Given the description of an element on the screen output the (x, y) to click on. 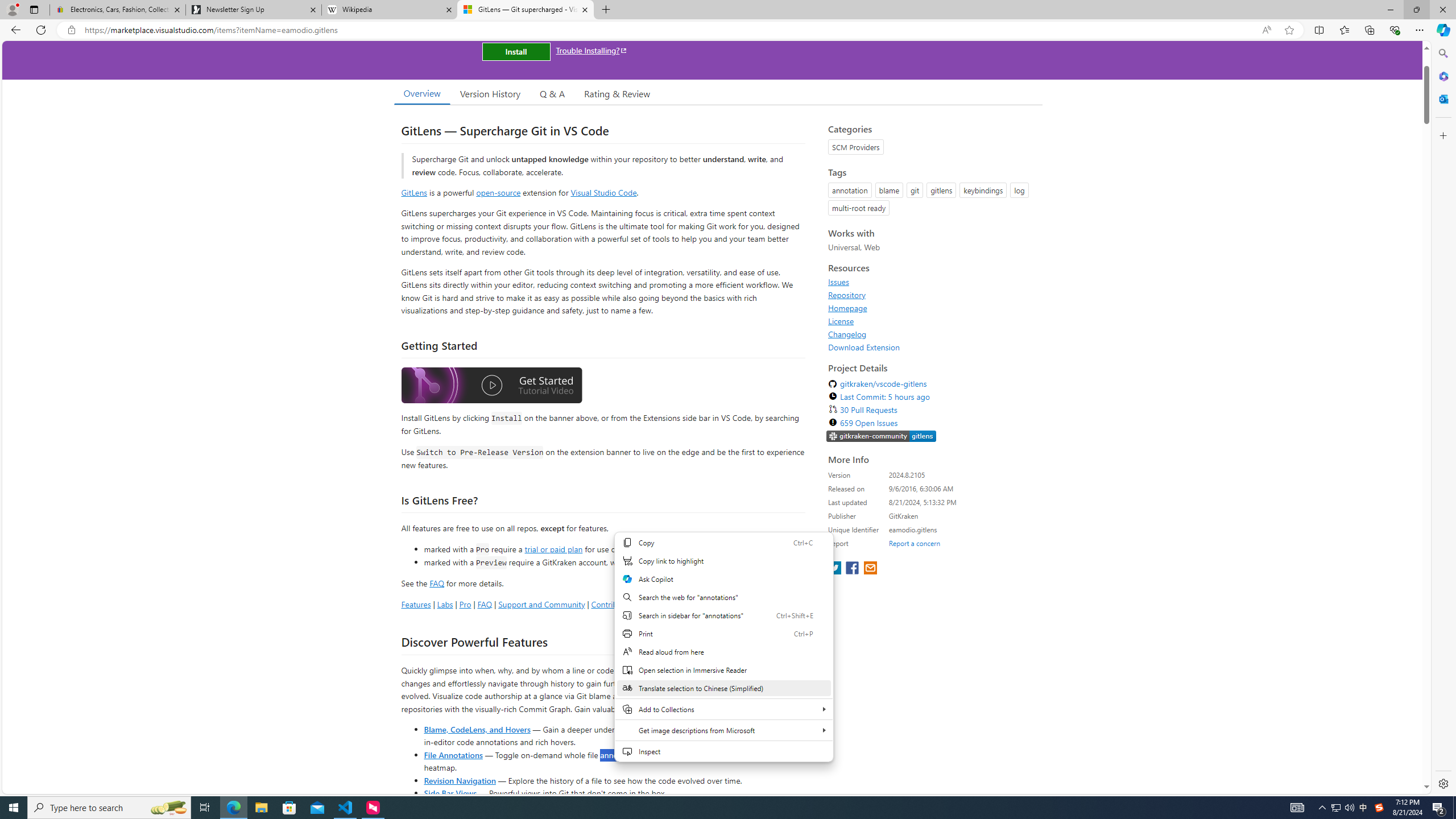
Web context (723, 646)
Open selection in Immersive Reader (723, 669)
App bar (728, 29)
Visual Studio Code (603, 192)
Inspect (723, 751)
Get image descriptions from Microsoft (723, 730)
Rating & Review (618, 92)
License (840, 320)
Settings and more (Alt+F) (1419, 29)
Refresh (40, 29)
